Given the description of an element on the screen output the (x, y) to click on. 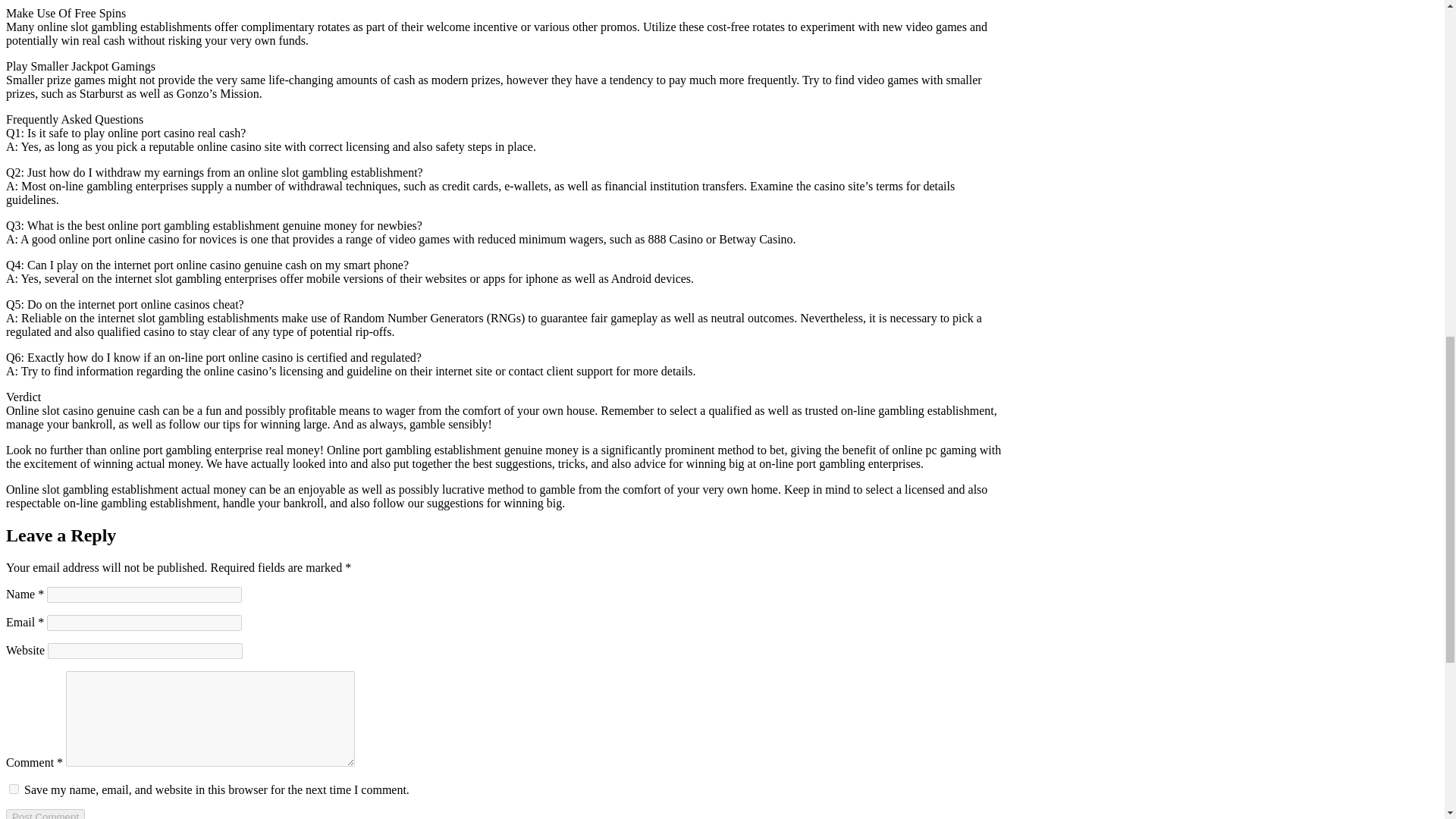
yes (13, 788)
Post Comment (44, 814)
Post Comment (44, 814)
